Given the description of an element on the screen output the (x, y) to click on. 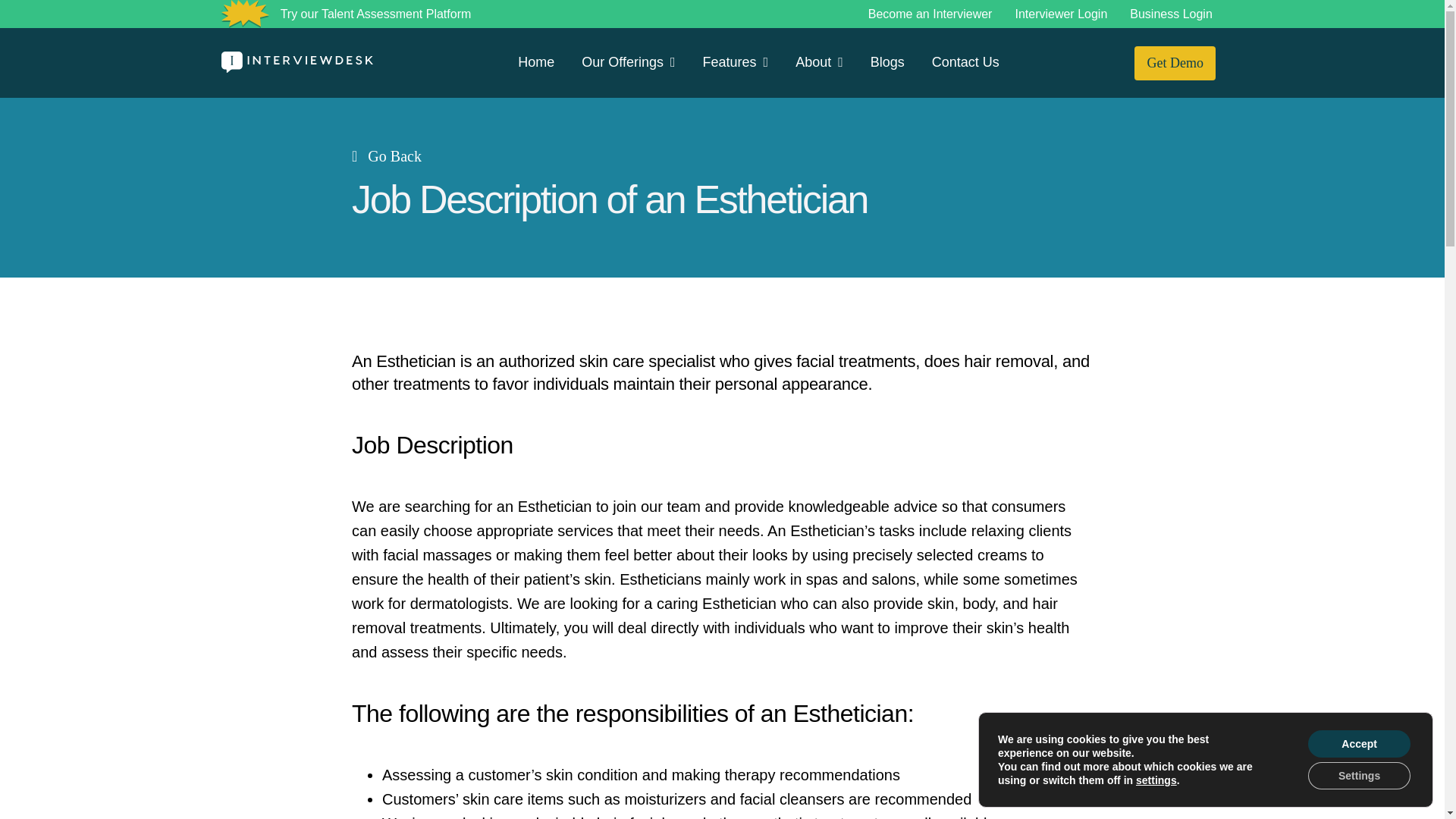
New-pow (245, 13)
Try our Talent Assessment Platform (376, 14)
Our Offerings (627, 62)
Business Login (1170, 14)
Features (735, 62)
Become an Interviewer (929, 14)
Interviewer Login (1060, 14)
Home (536, 62)
